Given the description of an element on the screen output the (x, y) to click on. 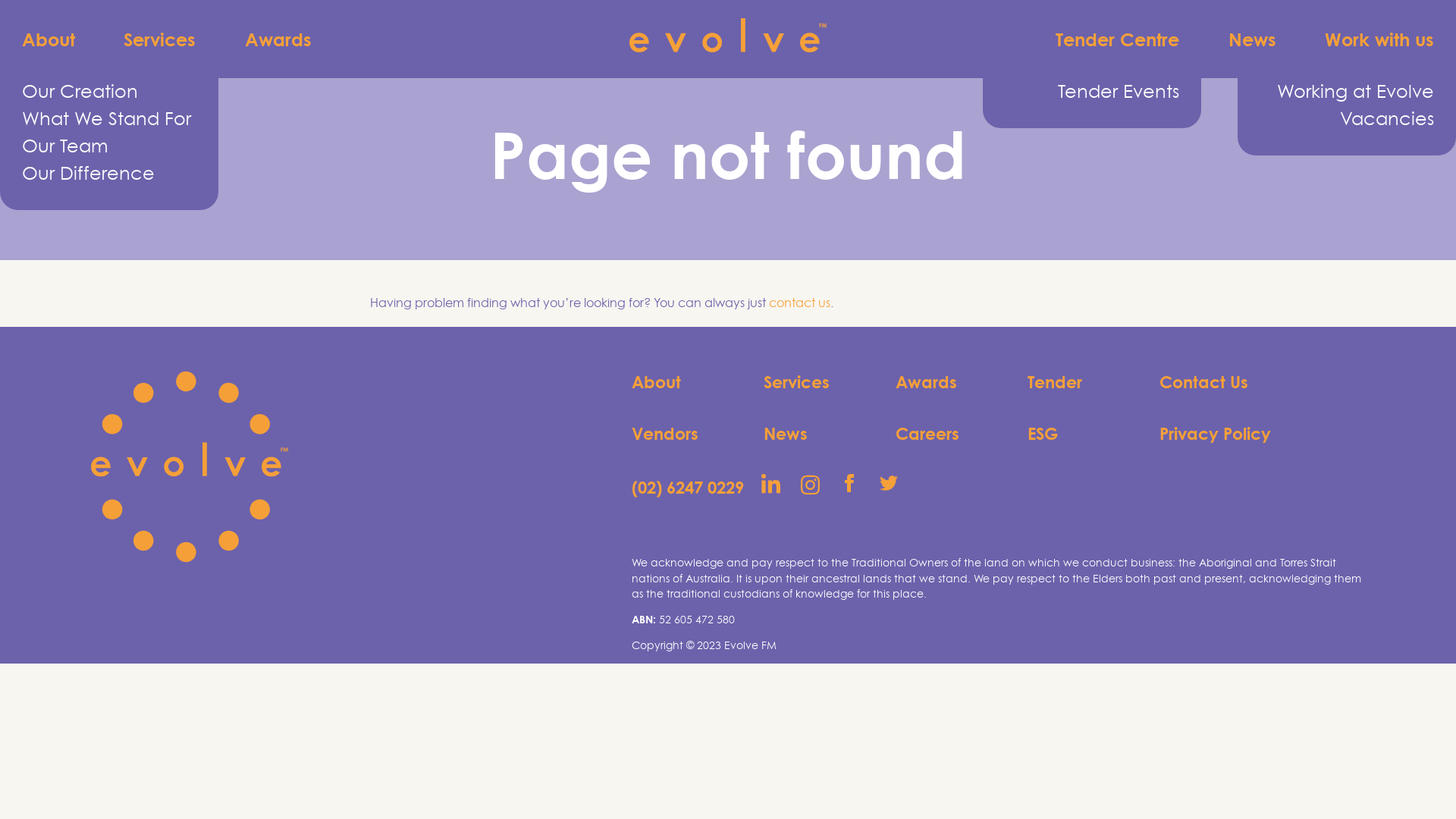
What We Stand For Element type: text (109, 118)
Awards Element type: text (277, 39)
(02) 6247 0229 Element type: text (693, 486)
Our Creation Element type: text (109, 91)
Vendors Element type: text (695, 432)
About Element type: text (48, 39)
contact us Element type: text (799, 302)
Awards Element type: text (958, 382)
Services Element type: text (827, 382)
Our Difference Element type: text (109, 173)
About Element type: text (695, 382)
ESG Element type: text (1090, 432)
Services Element type: text (160, 39)
Privacy Policy Element type: text (1222, 432)
Contact Us Element type: text (1222, 382)
Tender Element type: text (1090, 382)
Tender Centre Element type: text (1117, 39)
Our Team Element type: text (109, 146)
Tender Events Element type: text (1091, 91)
News Element type: text (1252, 39)
News Element type: text (827, 432)
Careers Element type: text (958, 432)
